Given the description of an element on the screen output the (x, y) to click on. 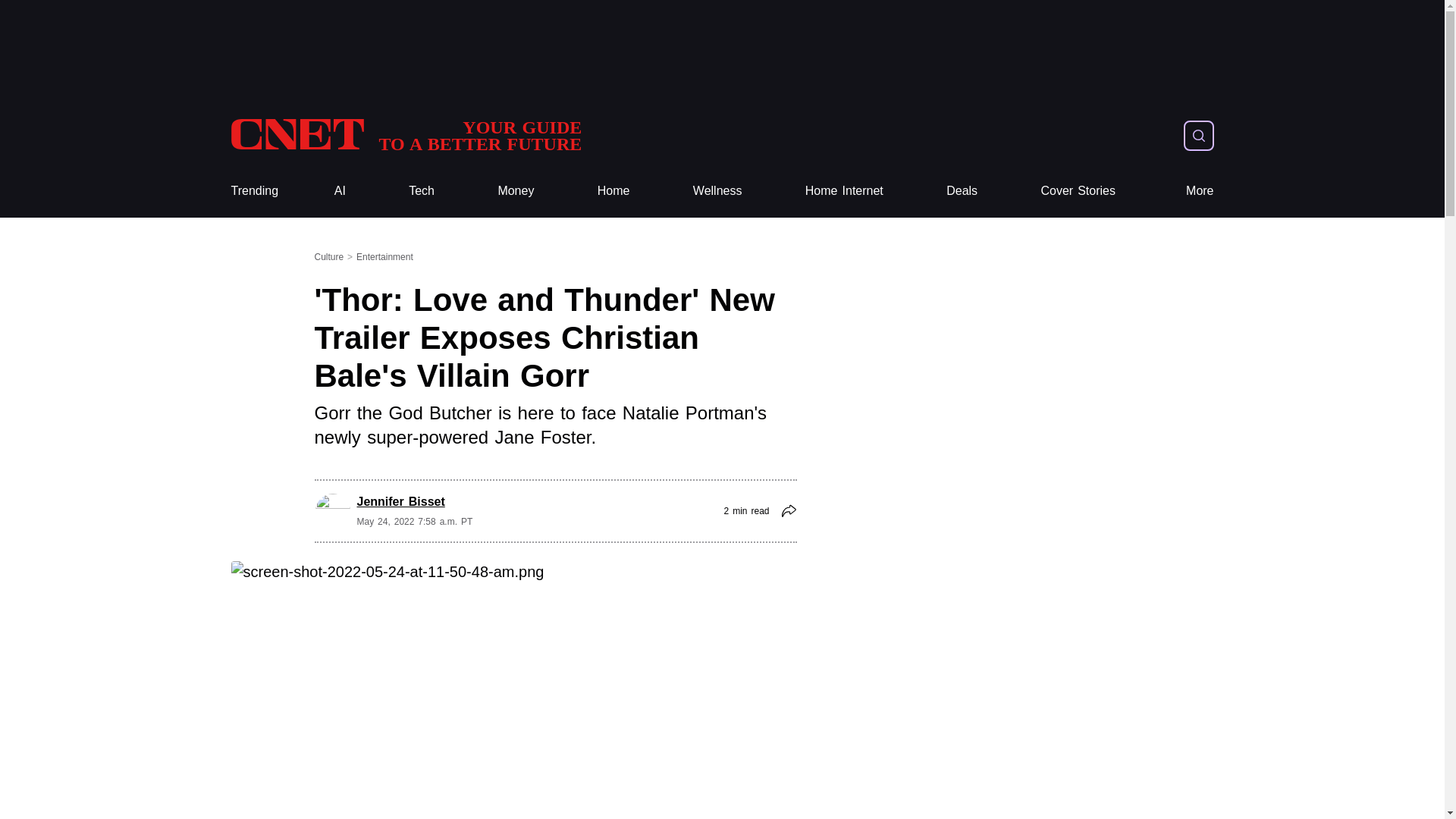
Home (613, 190)
Trending (254, 190)
Wellness (717, 190)
Tech (421, 190)
More (1199, 190)
Tech (421, 190)
Wellness (405, 135)
Home (717, 190)
Home Internet (613, 190)
Money (844, 190)
Cover Stories (515, 190)
Trending (1078, 190)
Money (254, 190)
CNET (515, 190)
